Given the description of an element on the screen output the (x, y) to click on. 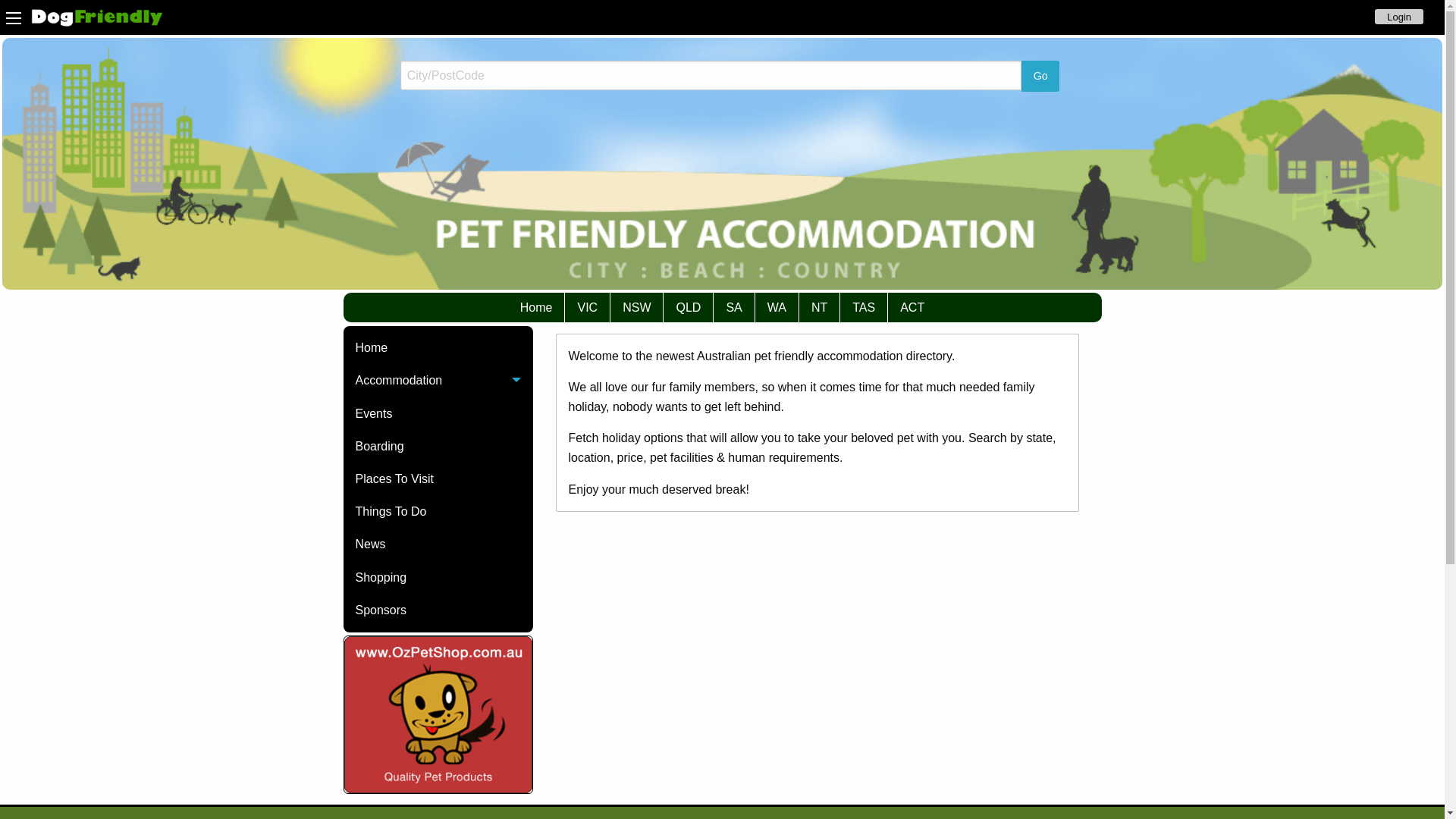
QLD Element type: text (687, 306)
Places To Visit Element type: text (437, 478)
SA Element type: text (733, 306)
Events Element type: text (437, 413)
NT Element type: text (819, 306)
WA Element type: text (776, 306)
Go Element type: text (1040, 75)
ACT Element type: text (912, 306)
Shopping Element type: text (437, 577)
Home Element type: text (437, 348)
Boarding Element type: text (437, 445)
Sponsors Element type: text (437, 609)
Home Element type: text (536, 306)
VIC Element type: text (586, 306)
Accommodation Element type: text (437, 380)
Things To Do Element type: text (437, 511)
TAS Element type: text (863, 306)
NSW Element type: text (636, 306)
Login Element type: text (1398, 16)
News Element type: text (437, 544)
